Given the description of an element on the screen output the (x, y) to click on. 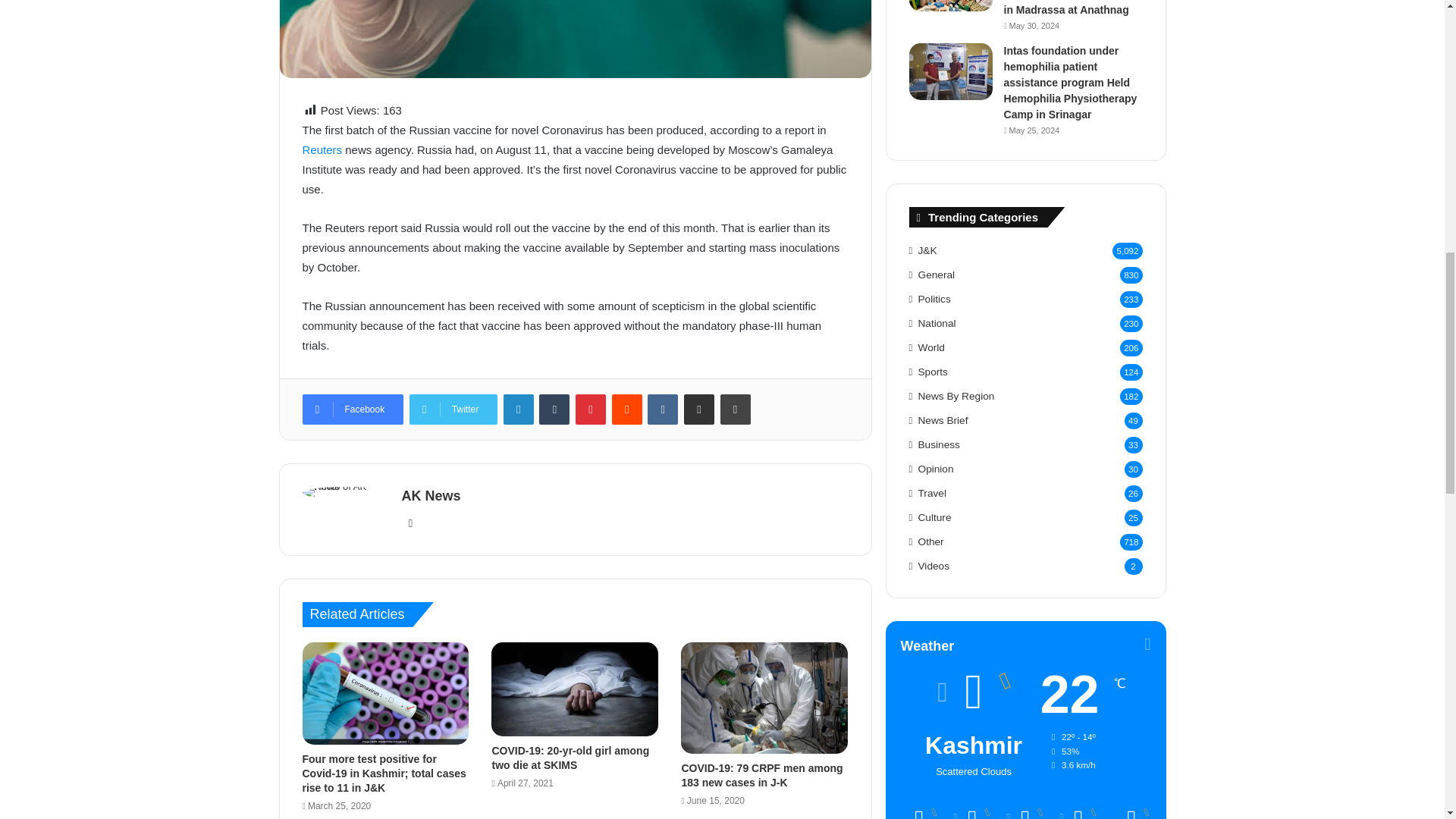
Tumblr (553, 409)
Share via Email (699, 409)
Facebook (352, 409)
LinkedIn (518, 409)
Pinterest (590, 409)
Twitter (453, 409)
Reddit (626, 409)
Print (735, 409)
VKontakte (662, 409)
